Given the description of an element on the screen output the (x, y) to click on. 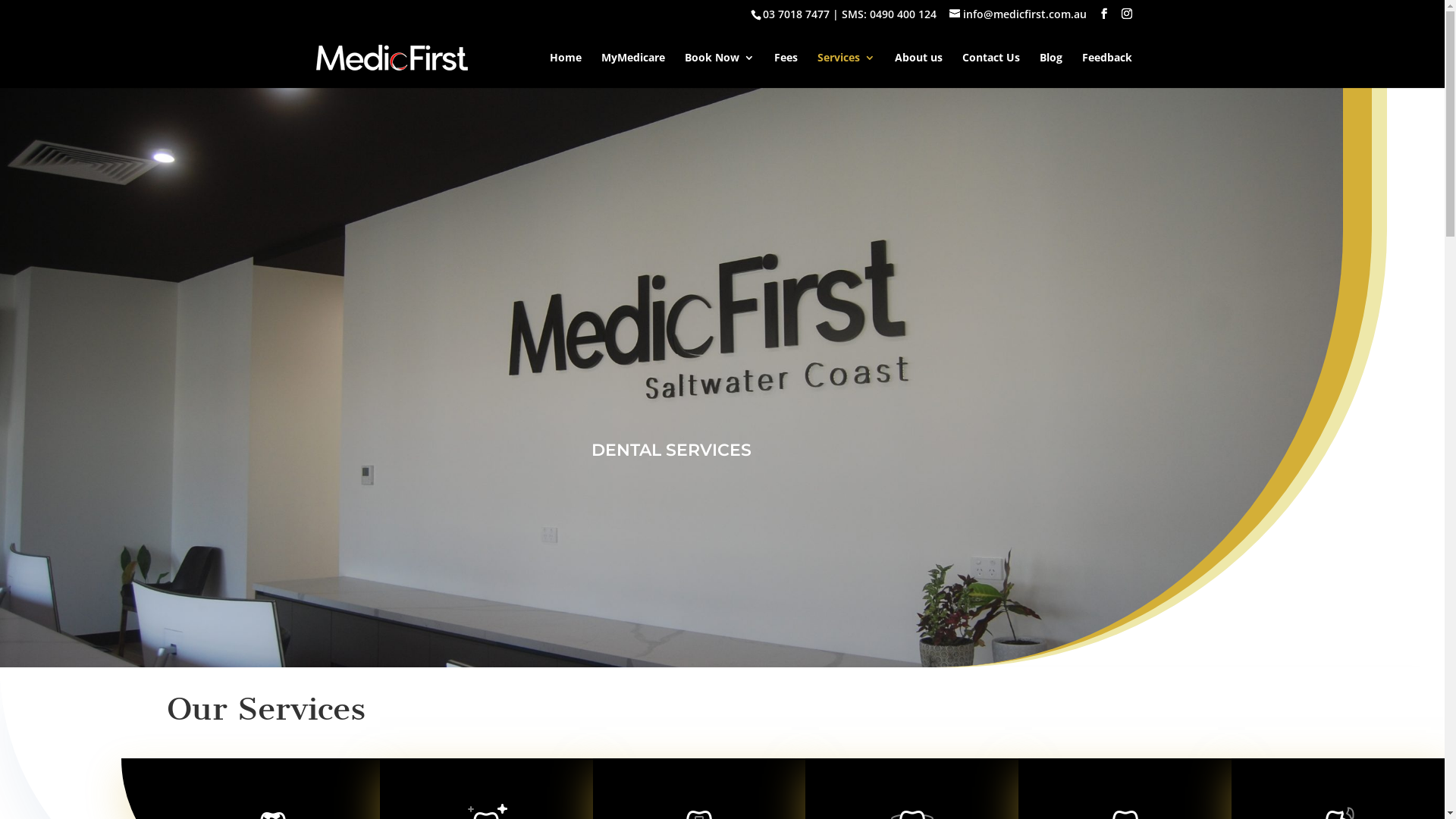
Feedback Element type: text (1106, 69)
info@medicfirst.com.au Element type: text (1017, 13)
MyMedicare Element type: text (632, 69)
Home Element type: text (564, 69)
About us Element type: text (918, 69)
Book Now Element type: text (718, 69)
Services Element type: text (846, 69)
Fees Element type: text (785, 69)
Contact Us Element type: text (990, 69)
Blog Element type: text (1049, 69)
